Given the description of an element on the screen output the (x, y) to click on. 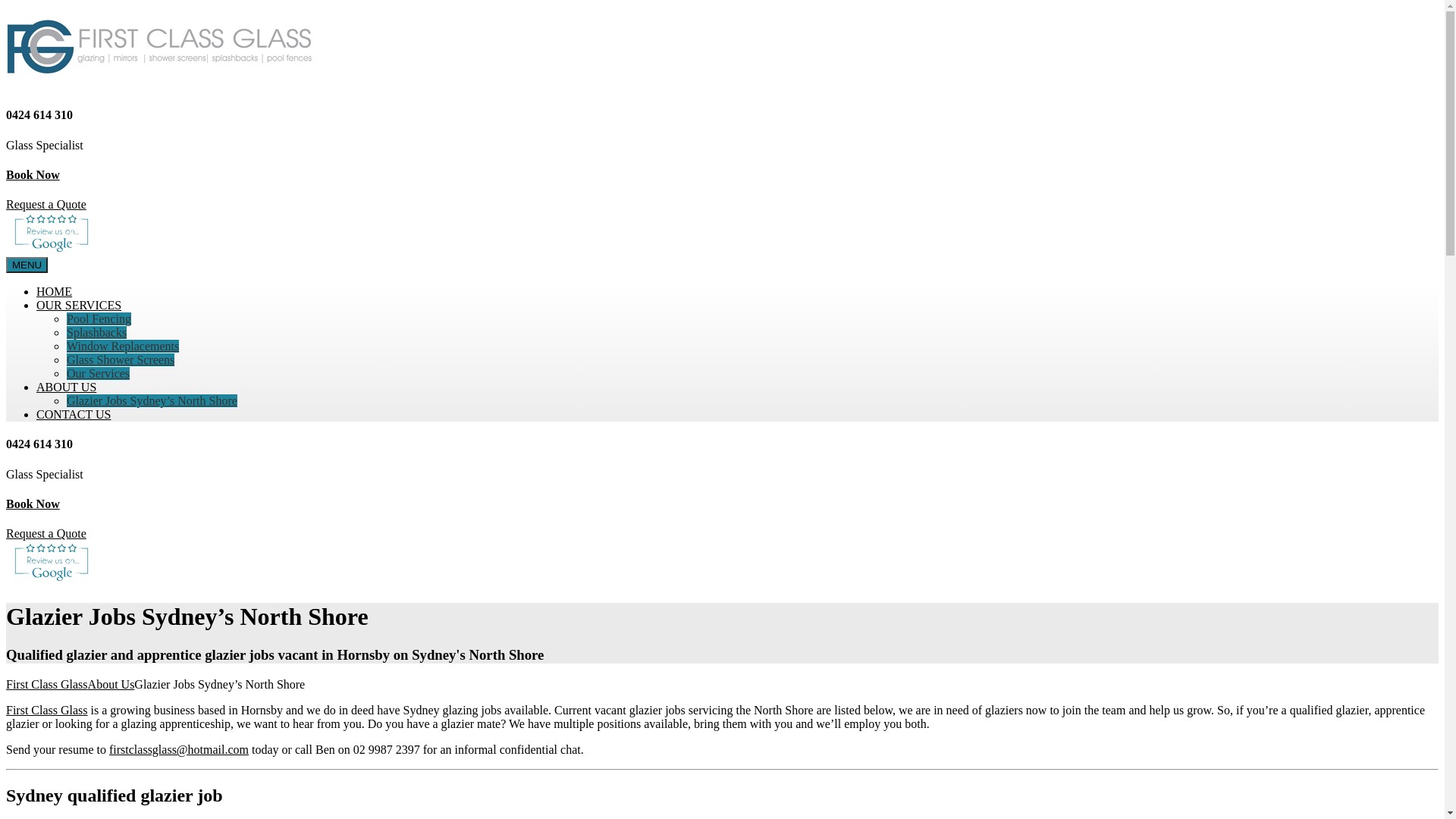
First Class Glass Element type: text (46, 683)
OUR SERVICES Element type: text (78, 304)
MENU Element type: text (26, 265)
CONTACT US Element type: text (73, 413)
Book Now
Request a Quote Element type: text (722, 189)
Our Services Element type: text (97, 373)
Window Replacements Element type: text (122, 345)
0424 614 310
Glass Specialist Element type: text (722, 458)
0424 614 310
Glass Specialist Element type: text (722, 129)
firstclassglass@hotmail.com Element type: text (178, 749)
Splashbacks Element type: text (96, 332)
Pool Fencing Element type: text (98, 318)
Book Now
Request a Quote Element type: text (722, 518)
ABOUT US Element type: text (66, 386)
First Class Glass Element type: text (46, 709)
About Us Element type: text (110, 683)
Created by potrace 1.10, written by Peter Selinger 2001-2011 Element type: text (51, 578)
HOME Element type: text (54, 291)
Created by potrace 1.10, written by Peter Selinger 2001-2011 Element type: text (51, 249)
Glass Shower Screens Element type: text (120, 359)
